Given the description of an element on the screen output the (x, y) to click on. 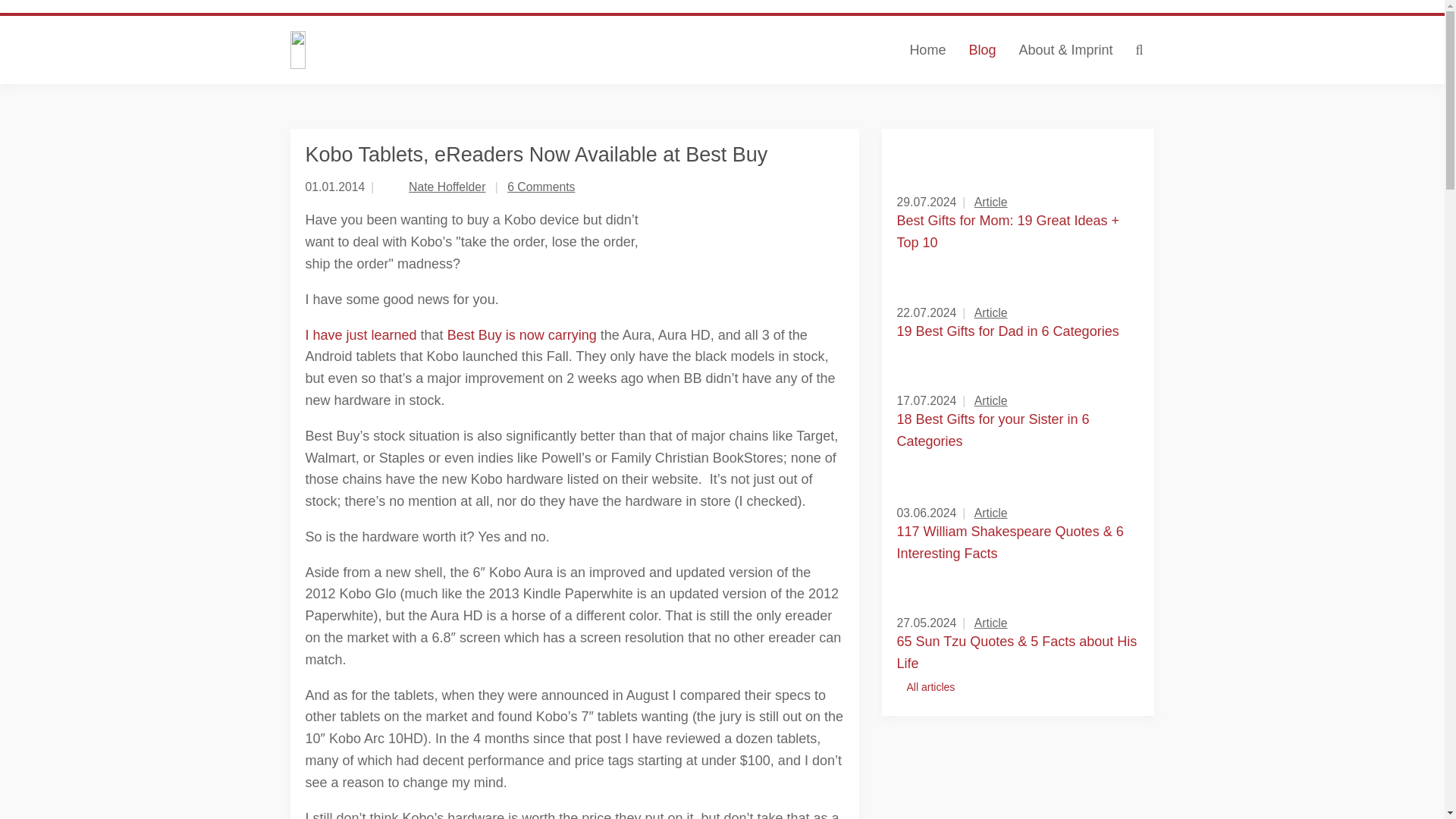
Article (990, 312)
19 Best Gifts for Dad in 6 Categories (1007, 331)
The Digital Reader (437, 49)
Article (990, 201)
Home (927, 49)
Blog (981, 49)
I have just learned (360, 335)
Best Buy is now carrying (521, 335)
Nate Hoffelder (446, 186)
6 Comments (540, 186)
